Given the description of an element on the screen output the (x, y) to click on. 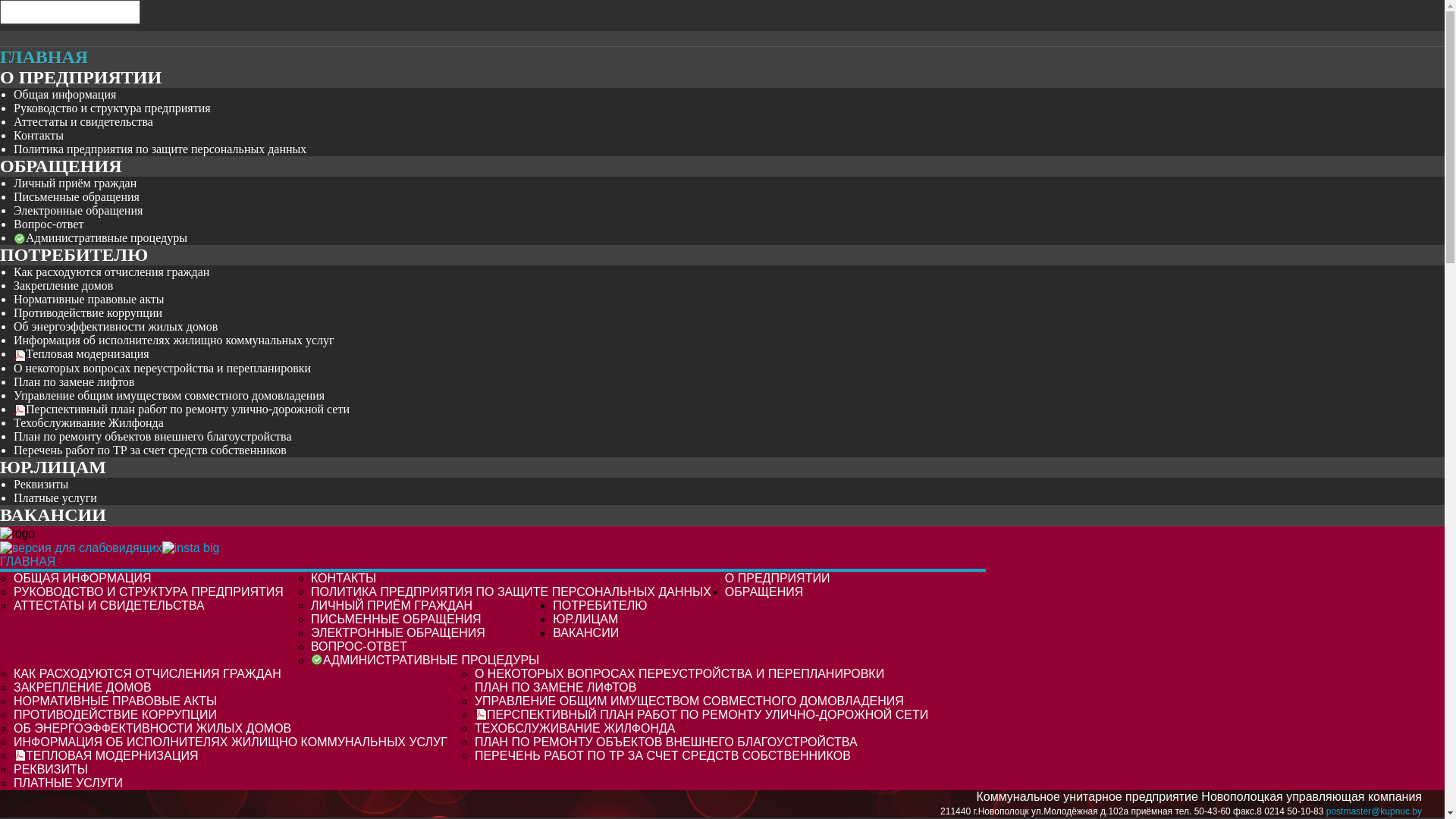
postmaster@kupnuc.by Element type: text (1373, 811)
